Given the description of an element on the screen output the (x, y) to click on. 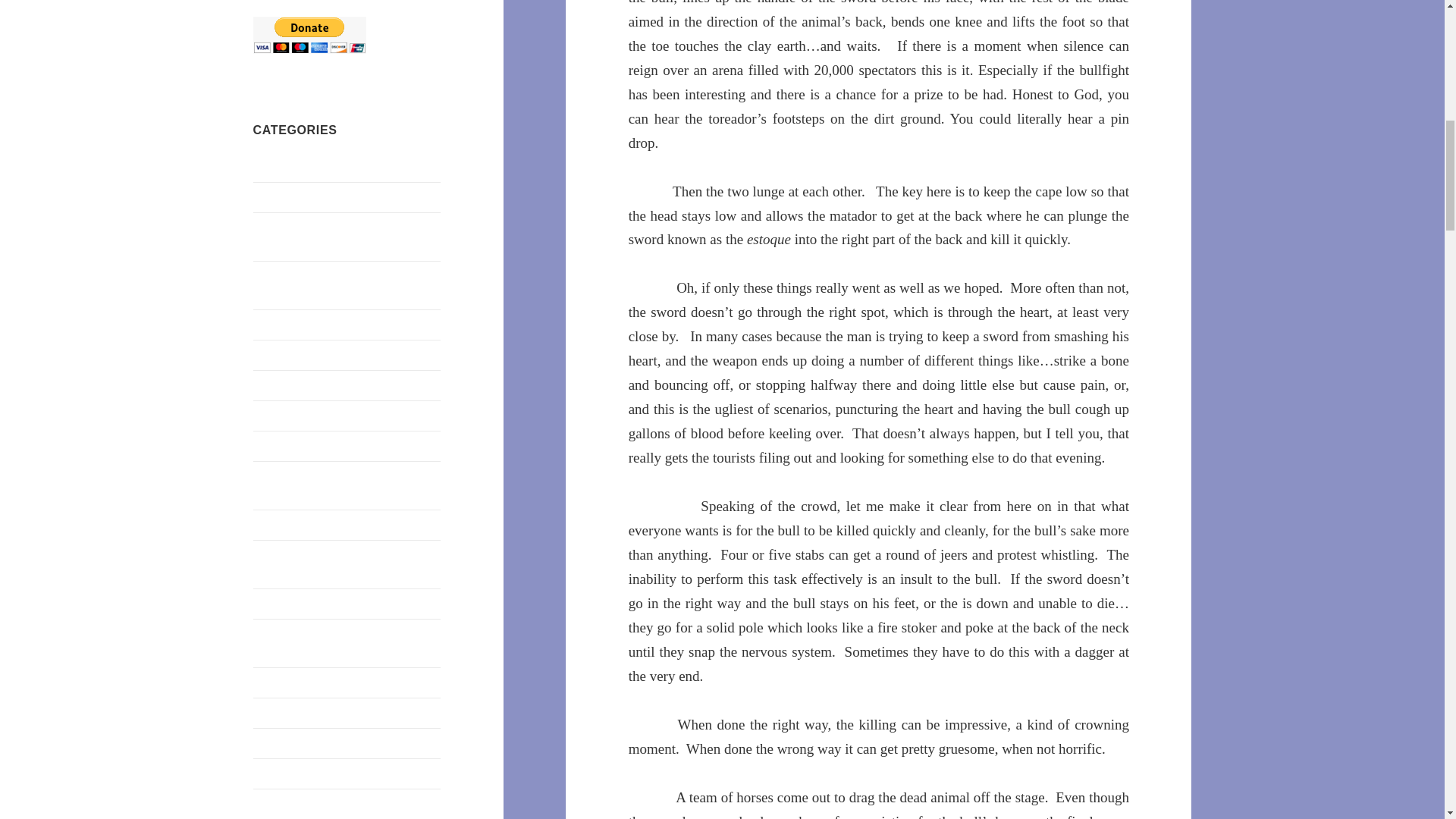
Madrid (270, 523)
30 Days of Christmas (305, 196)
Images of Spain (292, 414)
SPAIN PODCASTS (302, 772)
North of Spain (288, 603)
Forensic Files (287, 384)
La Soportable Levedad de Estar en Crisis en Madrid (338, 484)
COSAS QUE NUNCA ME CONTARON DE LA HISTORIA (334, 284)
24 Hours in La Mancha (310, 165)
Spanish a Wine (291, 802)
PODCASTS (284, 681)
Fiction (269, 354)
Spain (267, 742)
In Spanish (278, 445)
Snap Out of It (287, 712)
